Given the description of an element on the screen output the (x, y) to click on. 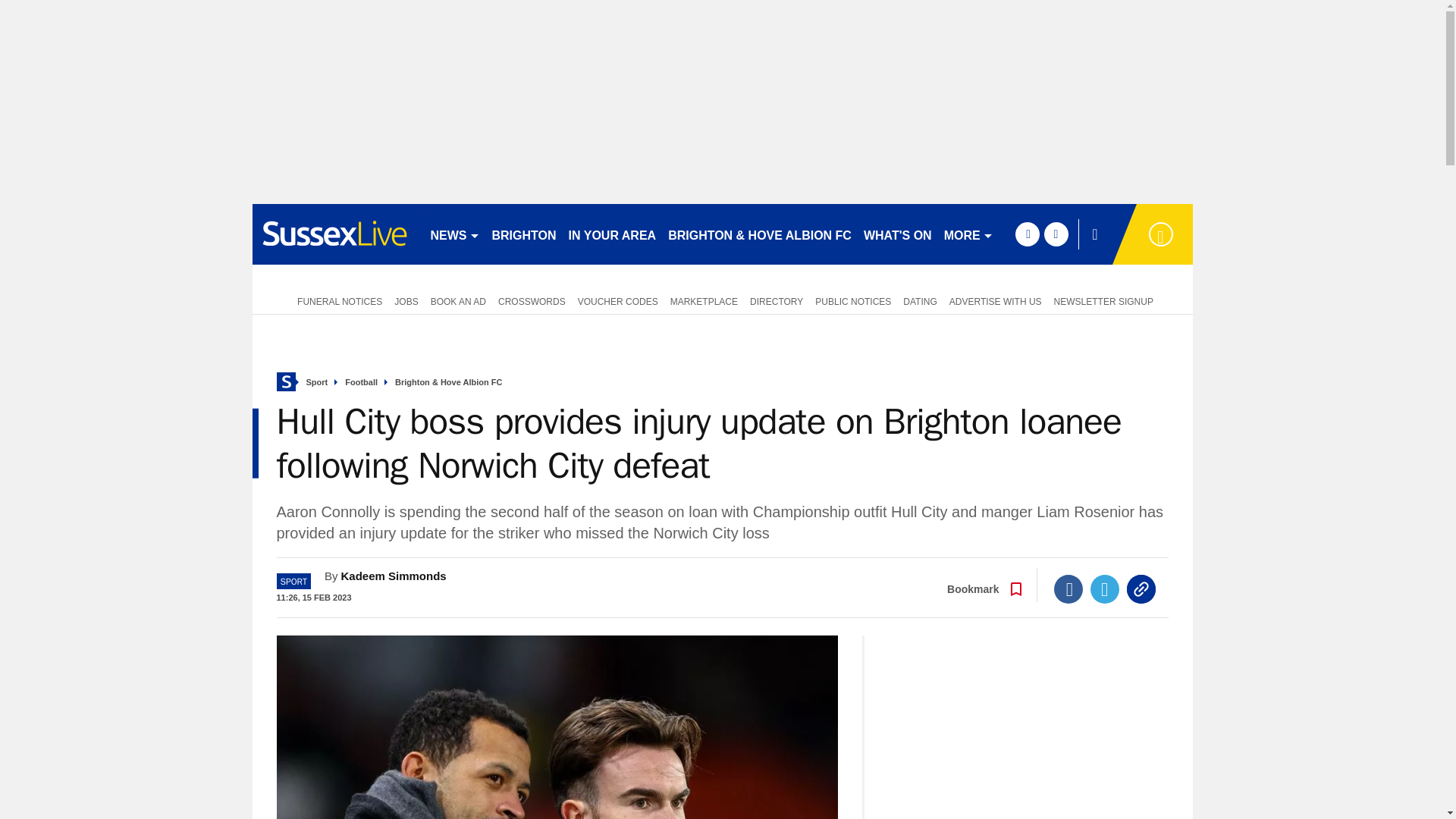
Twitter (1104, 588)
BRIGHTON (523, 233)
NEWS (455, 233)
IN YOUR AREA (612, 233)
BOOK AN AD (458, 300)
MARKETPLACE (703, 300)
DIRECTORY (776, 300)
VOUCHER CODES (617, 300)
PUBLIC NOTICES (852, 300)
sussexlive (333, 233)
